Given the description of an element on the screen output the (x, y) to click on. 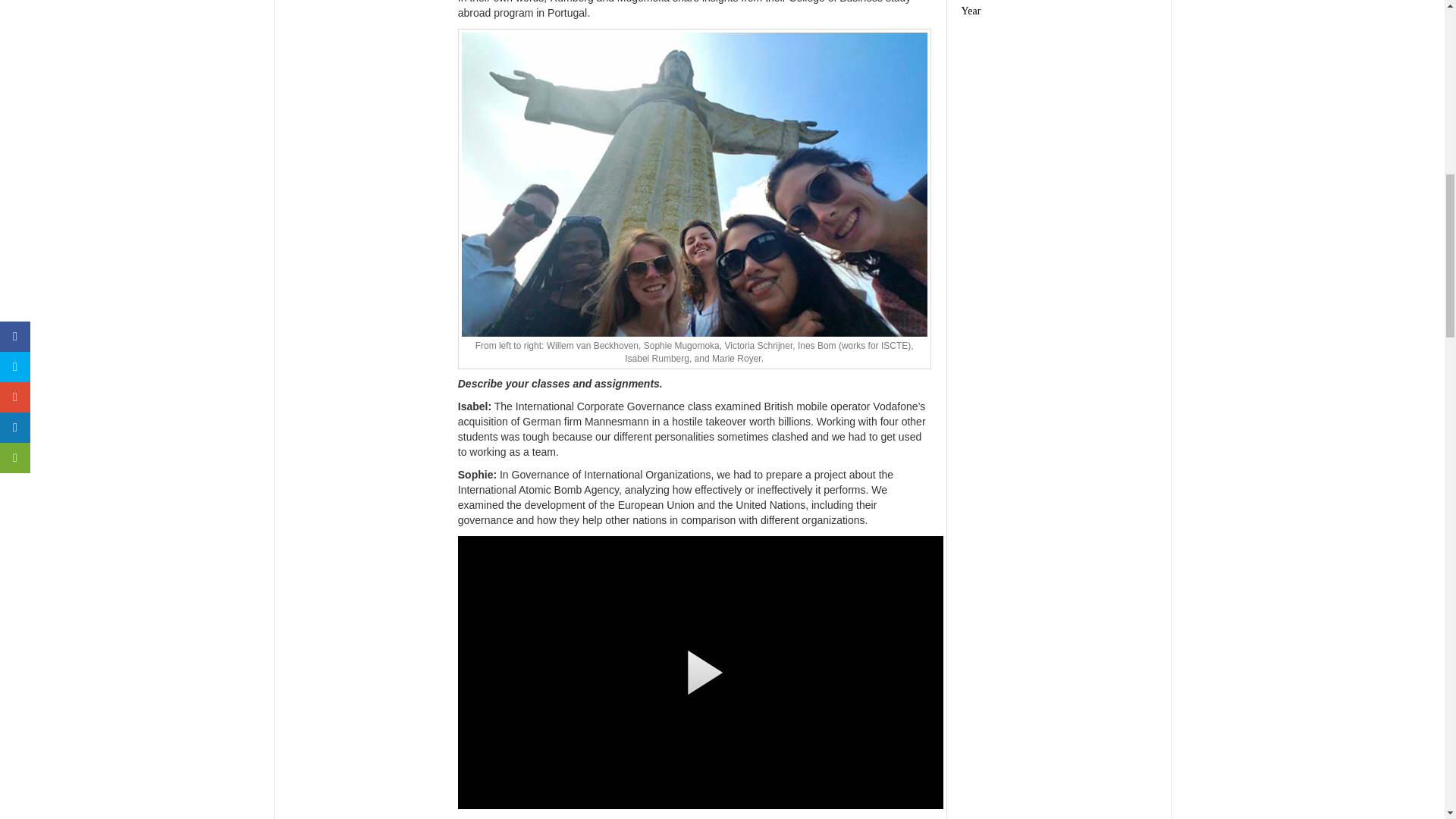
Video Player (700, 672)
